Given the description of an element on the screen output the (x, y) to click on. 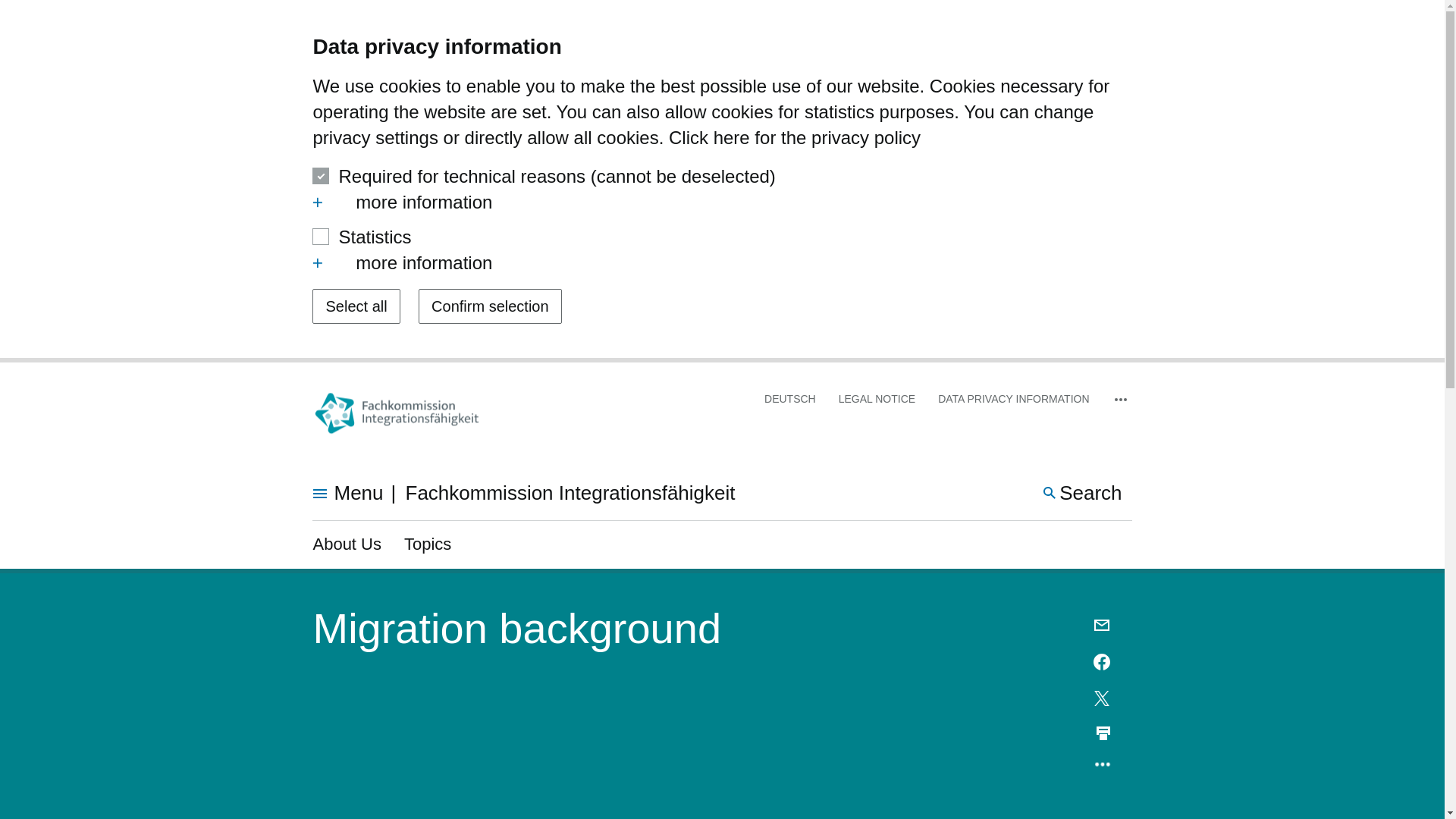
E-MAIL, MIGRATION BACKGROUND (1103, 625)
open (318, 202)
Facebook, Migration background (722, 263)
LEGAL NOTICE (1103, 661)
FACEBOOK, MIGRATION BACKGROUND (876, 398)
TWITTER, MIGRATION BACKGROUND (1103, 661)
Search (1103, 698)
open (1083, 493)
DEUTSCH (318, 262)
